Given the description of an element on the screen output the (x, y) to click on. 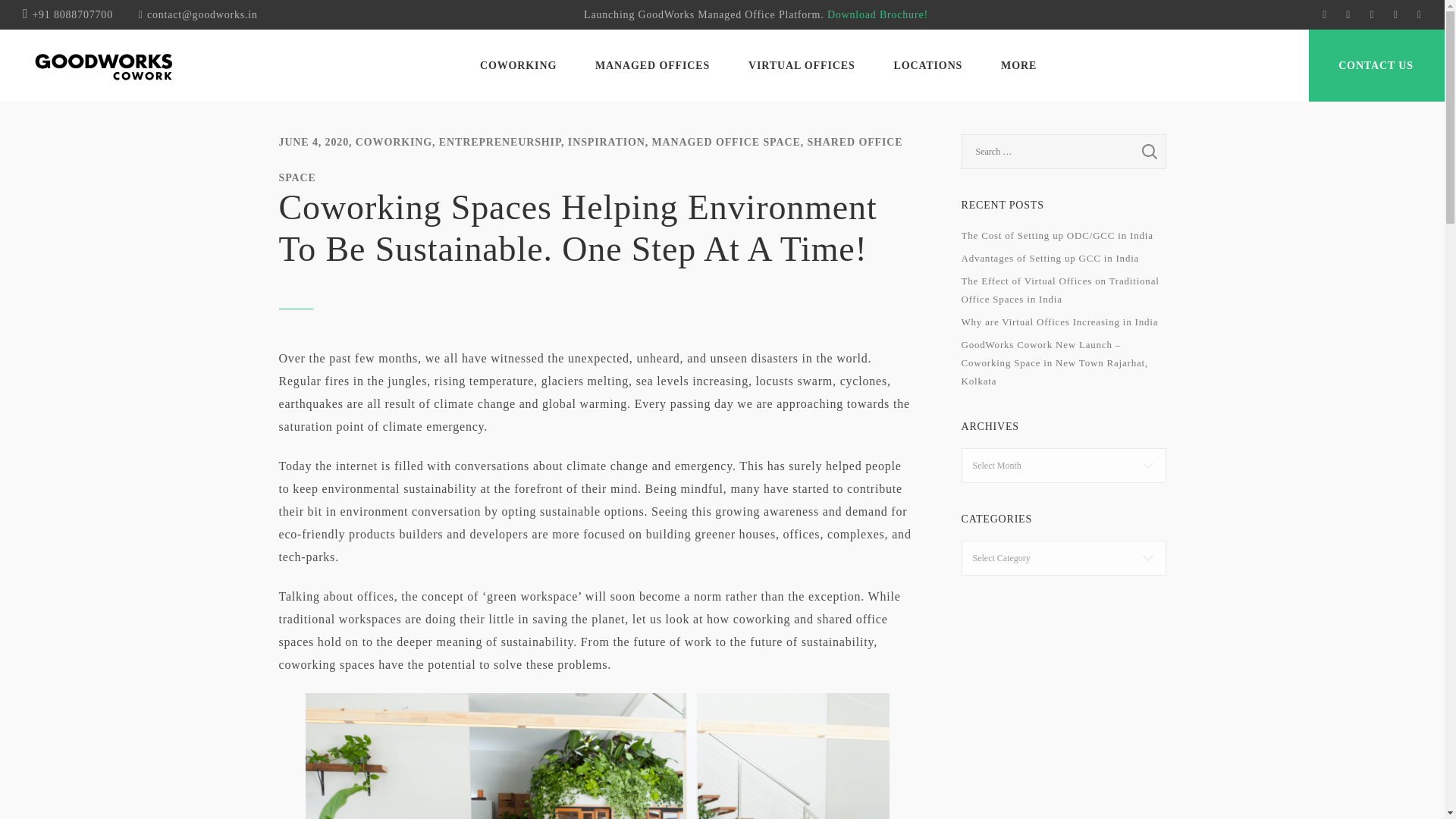
MANAGED OFFICES (652, 66)
Search (1149, 151)
COWORKING (518, 66)
Download Brochure! (877, 14)
Search (1149, 151)
